Given the description of an element on the screen output the (x, y) to click on. 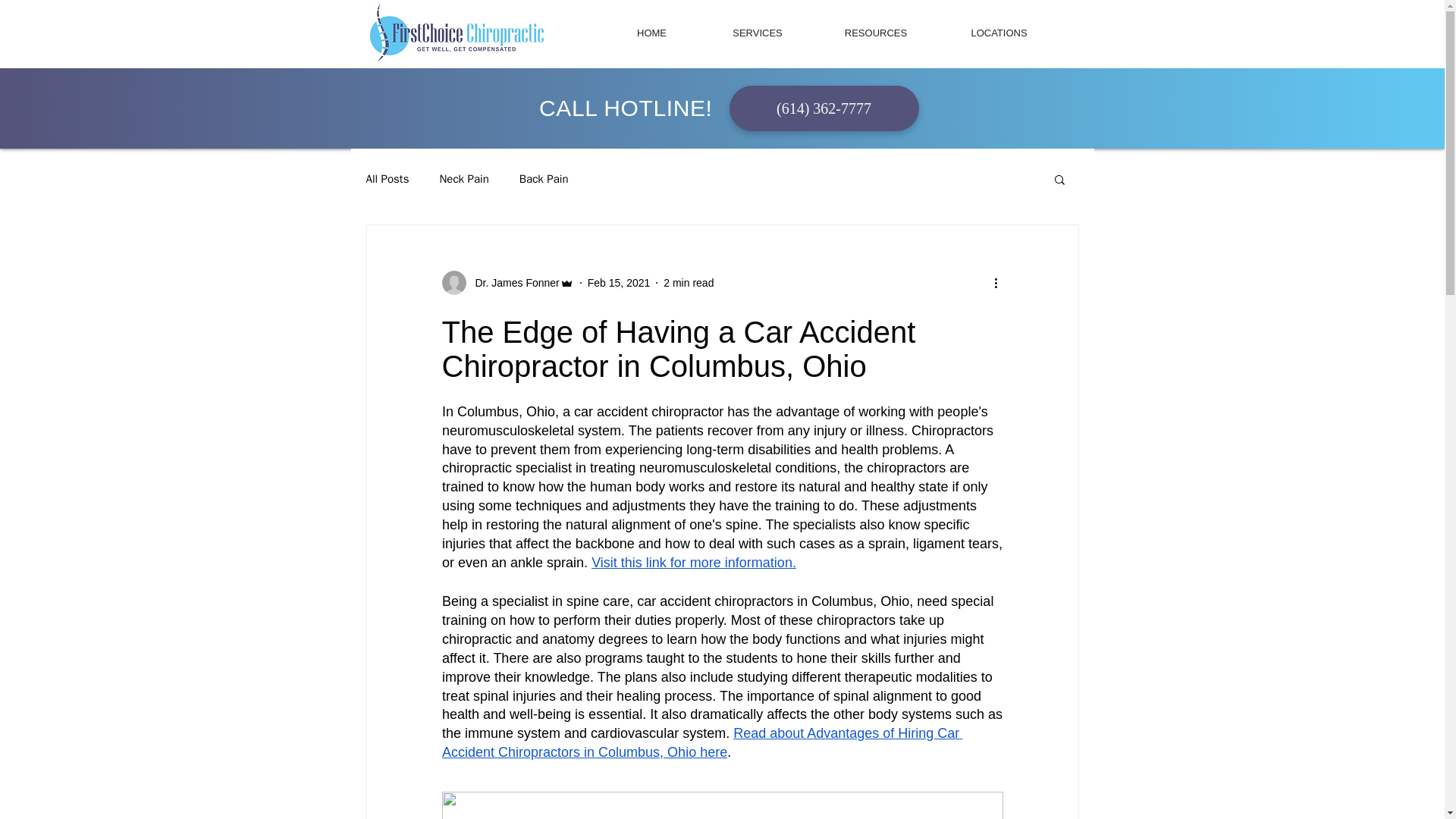
Visit this link for more information. (693, 562)
Neck Pain (463, 178)
Feb 15, 2021 (619, 282)
HOME (651, 32)
All Posts (387, 178)
Dr. James Fonner (512, 282)
Back Pain (544, 178)
2 min read (688, 282)
